Given the description of an element on the screen output the (x, y) to click on. 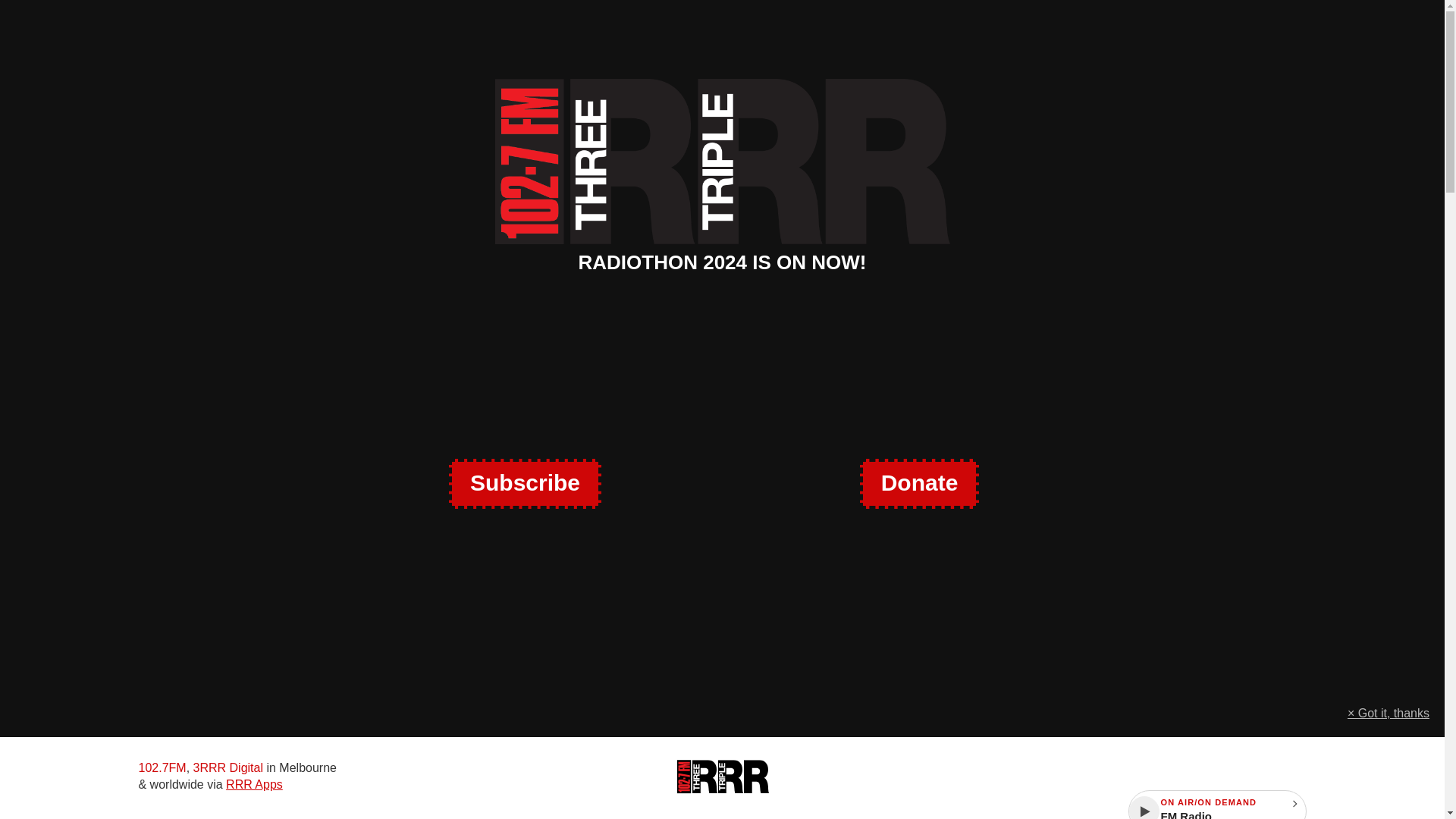
Donate (919, 483)
Subscribe (524, 483)
RRR Apps (253, 784)
Triple R logo (722, 776)
